Given the description of an element on the screen output the (x, y) to click on. 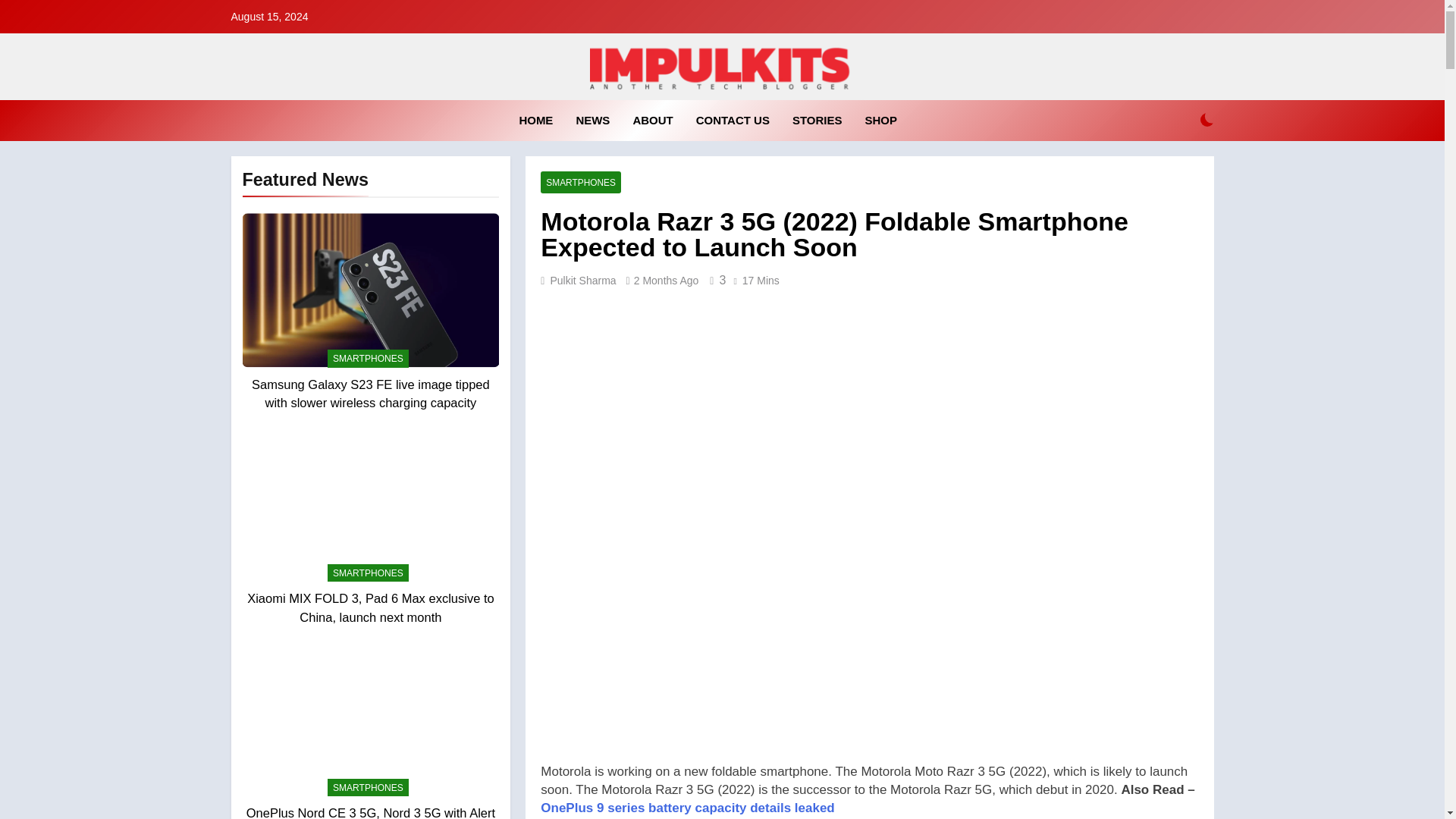
on (1206, 119)
SHOP (880, 119)
CONTACT US (732, 119)
SMARTPHONES (368, 572)
SMARTPHONES (368, 357)
STORIES (816, 119)
SMARTPHONES (368, 787)
